Given the description of an element on the screen output the (x, y) to click on. 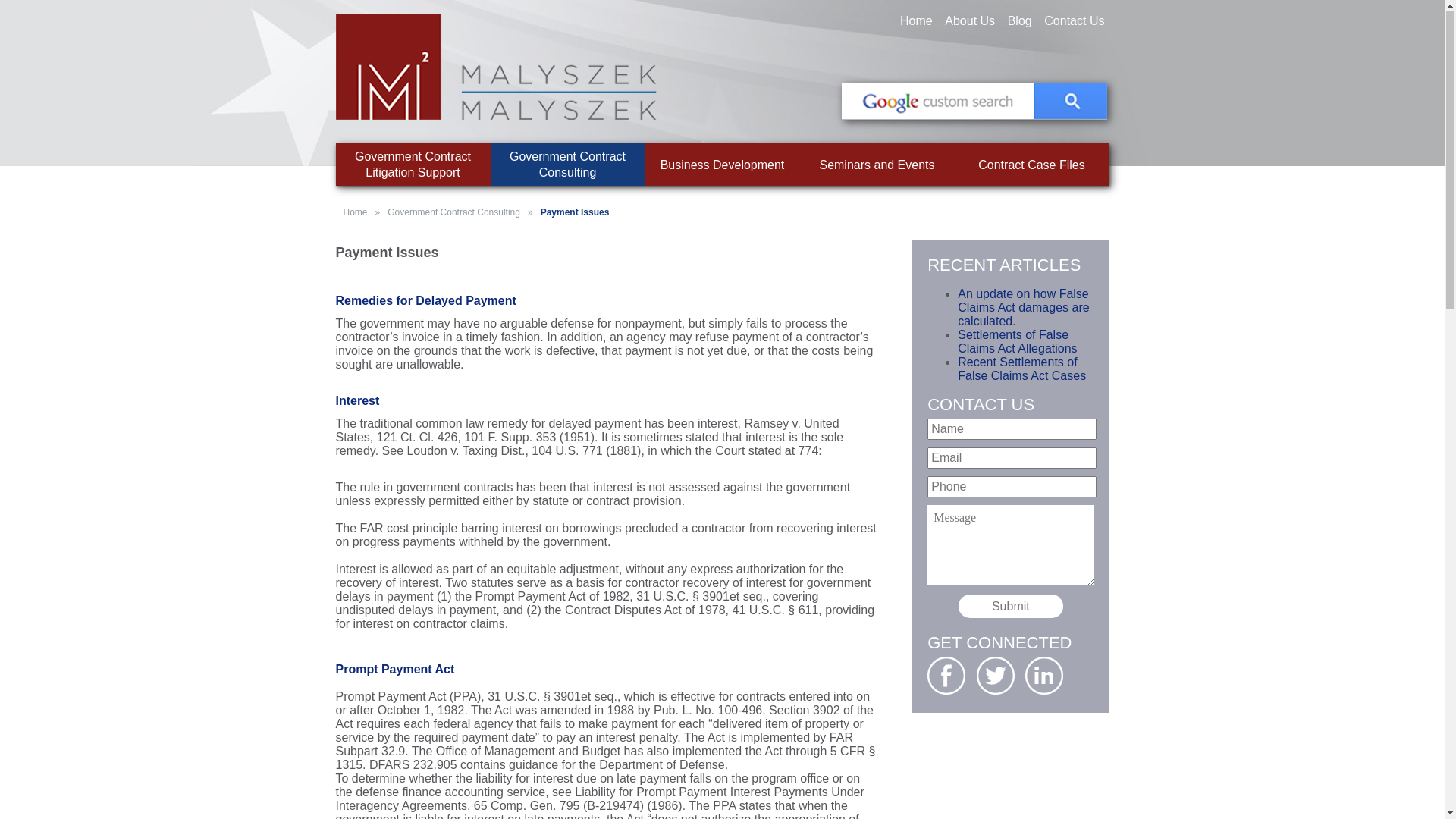
Home Element type: text (916, 21)
Contract Case Files Element type: text (1030, 165)
Submit Element type: text (1010, 606)
Settlements of False Claims Act Allegations Element type: text (1016, 342)
Interest Element type: text (357, 401)
An update on how False Claims Act damages are calculated. Element type: text (1022, 308)
Seminars and Events Element type: text (876, 165)
About Us Element type: text (969, 21)
Home Element type: text (354, 212)
Government Contract Consulting Element type: text (453, 212)
Malyszek and Maylszek Element type: hover (495, 67)
Blog Element type: text (1019, 21)
Prompt Payment Act Element type: text (394, 669)
Remedies for Delayed Payment Element type: text (425, 300)
Business Development Element type: text (721, 165)
Contact Us Element type: text (1073, 21)
Government Contract Litigation Support Element type: text (412, 165)
Government Contract Consulting Element type: text (566, 165)
Recent Settlements of False Claims Act Cases Element type: text (1021, 369)
